Given the description of an element on the screen output the (x, y) to click on. 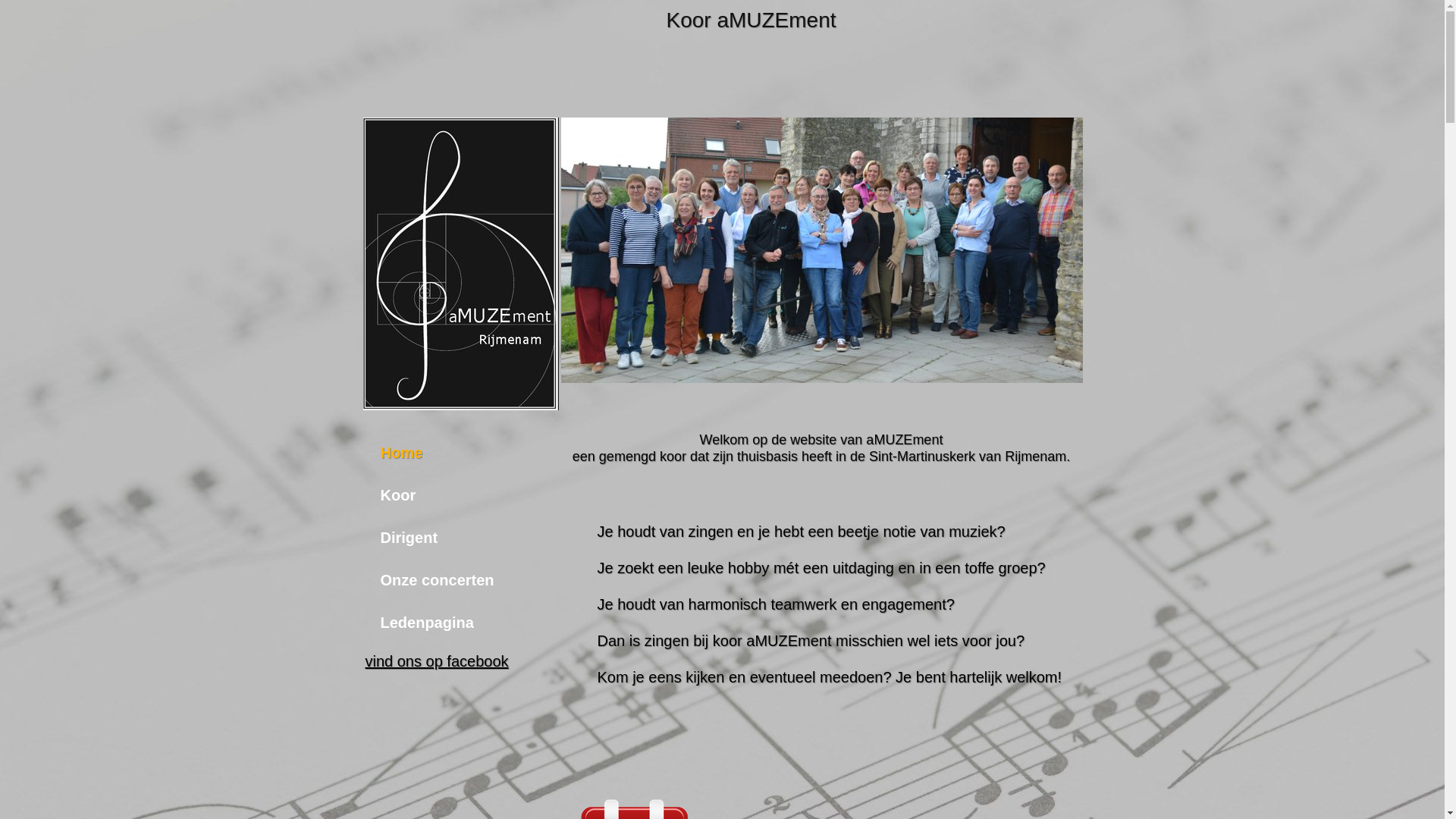
Ledenpagina Element type: text (437, 622)
Onze concerten Element type: text (437, 579)
Home Element type: text (437, 452)
Koor Element type: text (437, 494)
Dirigent Element type: text (437, 537)
vind ons op facebook Element type: text (436, 660)
